Given the description of an element on the screen output the (x, y) to click on. 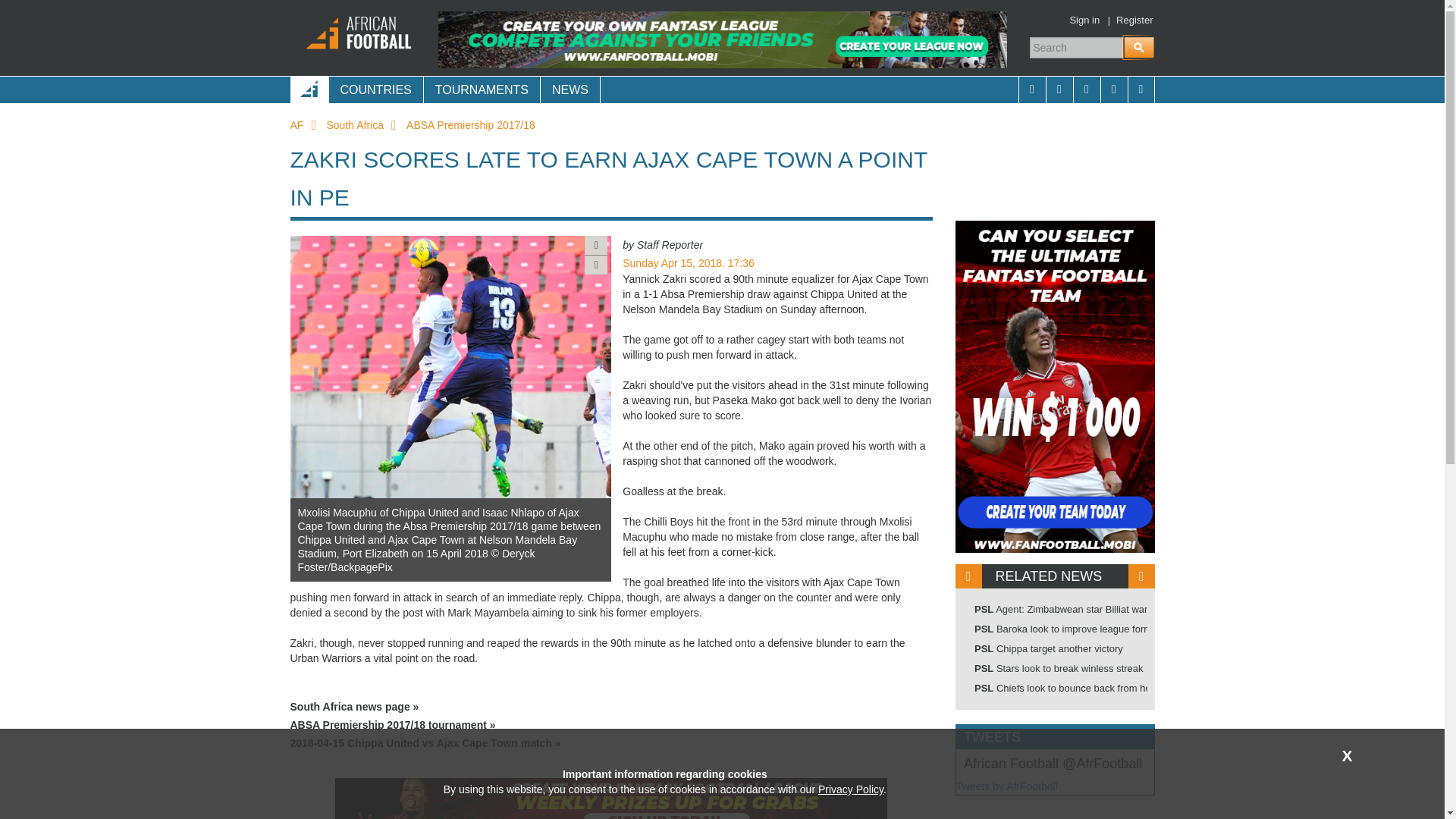
South Africa news page (611, 706)
2018-04-15 Chippa United vs Ajax Cape Town match (611, 743)
Sign in (1083, 19)
Register (1134, 19)
TOURNAMENTS (481, 89)
NEWS (569, 89)
COUNTRIES (374, 89)
